Given the description of an element on the screen output the (x, y) to click on. 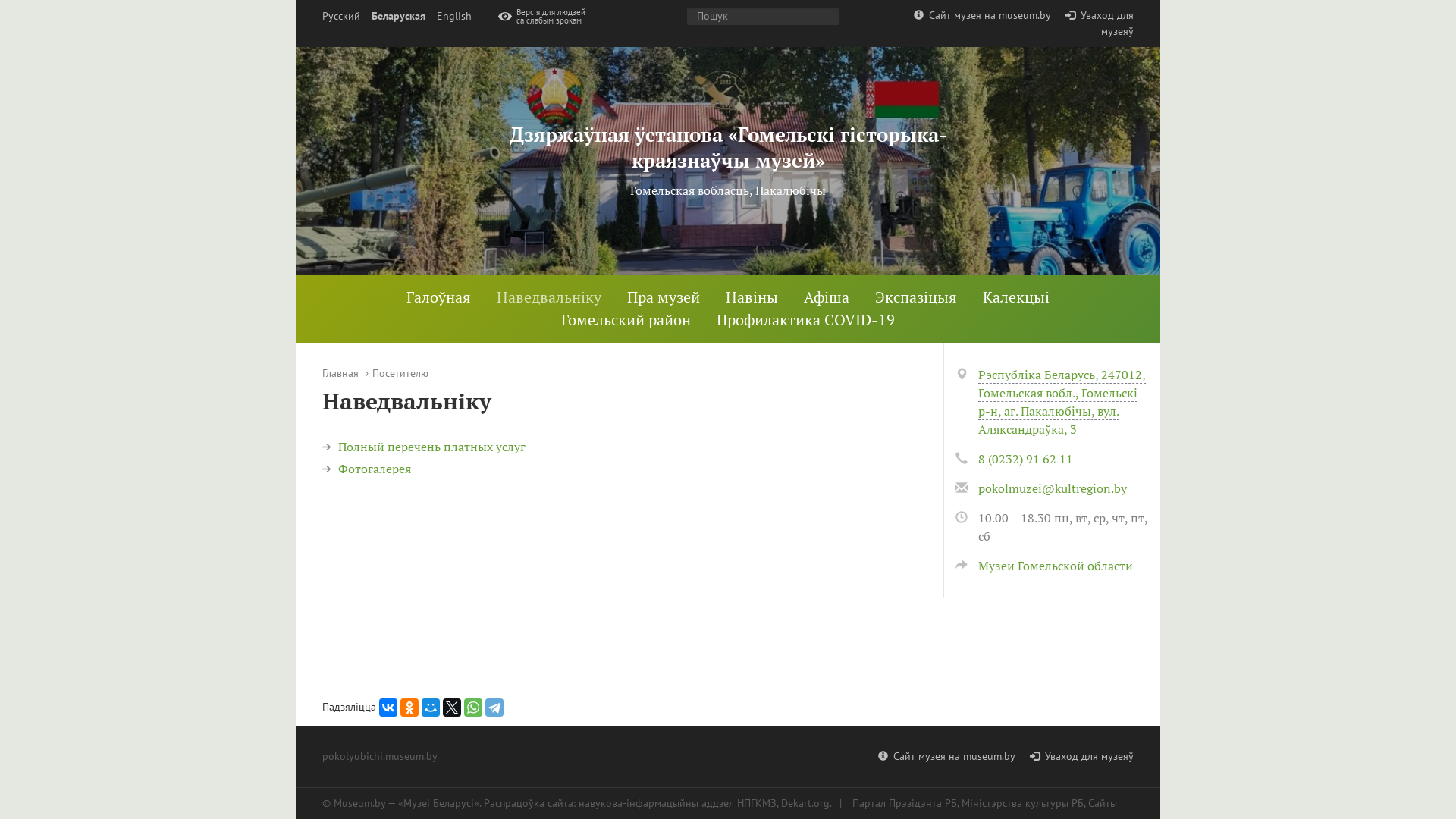
Twitter Element type: hover (451, 707)
8 (0232) 91 62 11 Element type: text (1025, 458)
Museum.by Element type: text (359, 802)
pokolmuzei@kultregion.by Element type: text (1052, 488)
Dekart.org Element type: text (805, 802)
English Element type: text (453, 16)
WhatsApp Element type: hover (473, 707)
Telegram Element type: hover (494, 707)
